Given the description of an element on the screen output the (x, y) to click on. 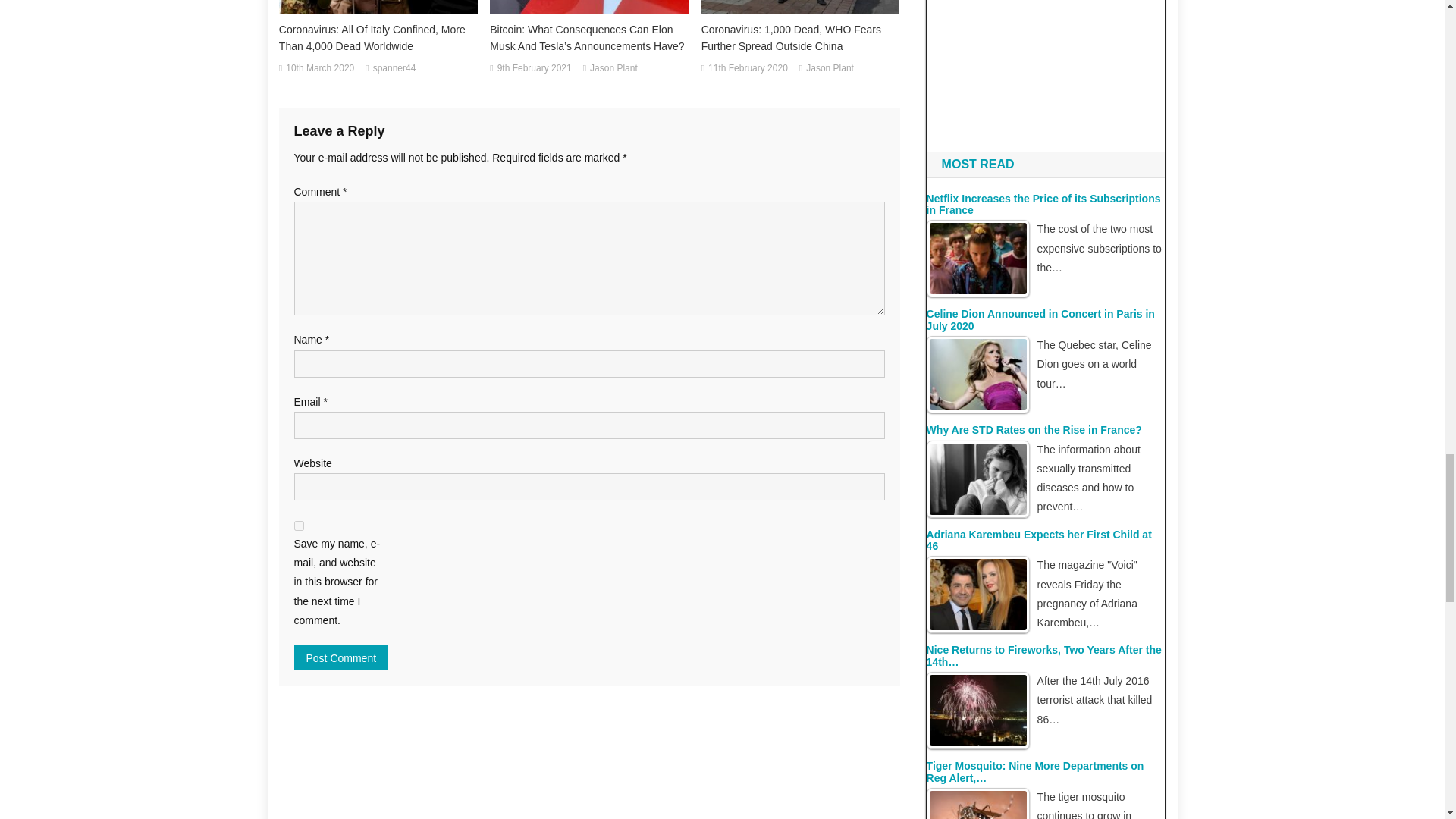
yes (299, 525)
Post Comment (341, 657)
